Given the description of an element on the screen output the (x, y) to click on. 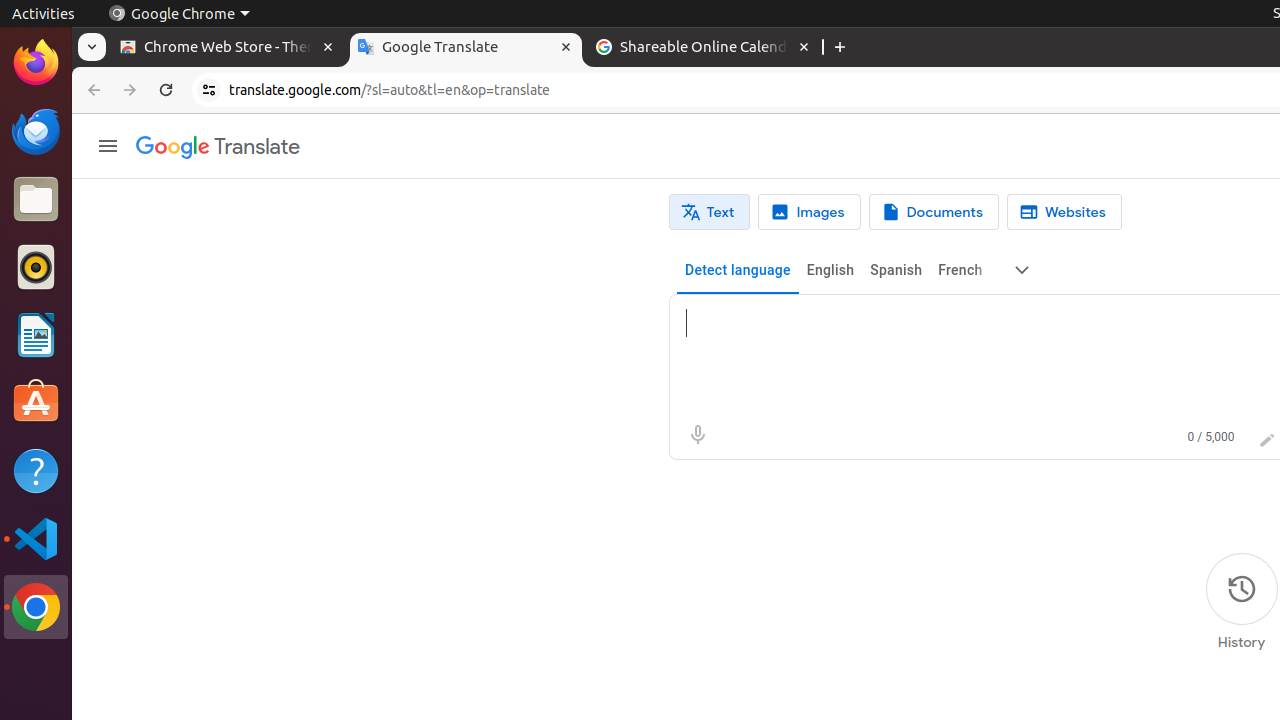
Text translation Element type: push-button (709, 211)
Firefox Web Browser Element type: push-button (36, 63)
Reload Element type: push-button (166, 90)
Website translation Element type: push-button (1064, 211)
Files Element type: push-button (36, 199)
